Given the description of an element on the screen output the (x, y) to click on. 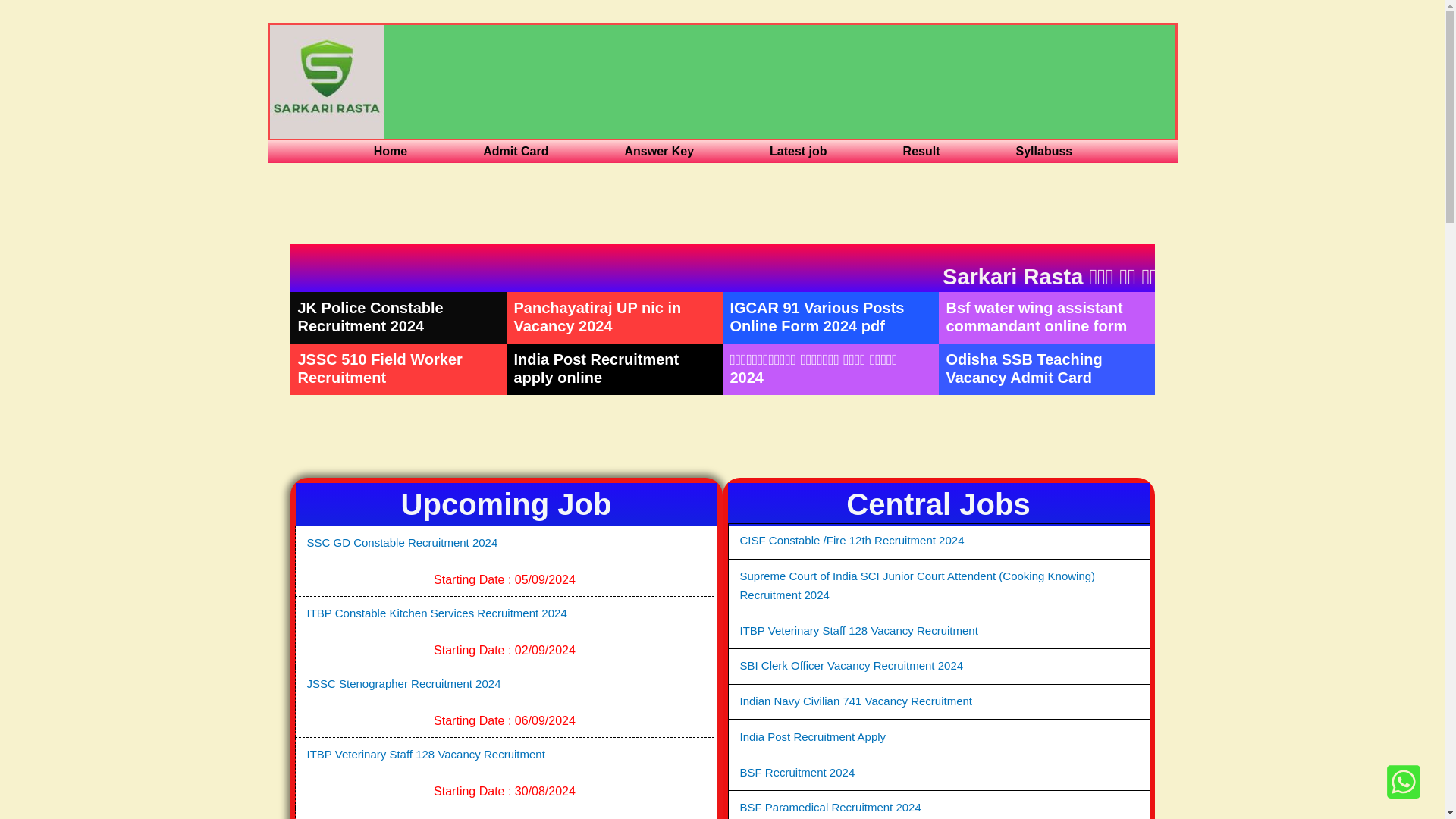
Admit Card (515, 151)
ITBP Veterinary Staff 128 Vacancy Recruitment (858, 630)
SBI Clerk Officer Vacancy Recruitment 2024 (851, 665)
Odisha SSB Teaching Vacancy Admit Card (1024, 368)
India Post Recruitment Apply (812, 736)
Panchayatiraj UP nic in Vacancy 2024 (597, 316)
BSF Paramedical Recruitment 2024 (830, 807)
Answer Key (659, 151)
Latest job (798, 151)
